Given the description of an element on the screen output the (x, y) to click on. 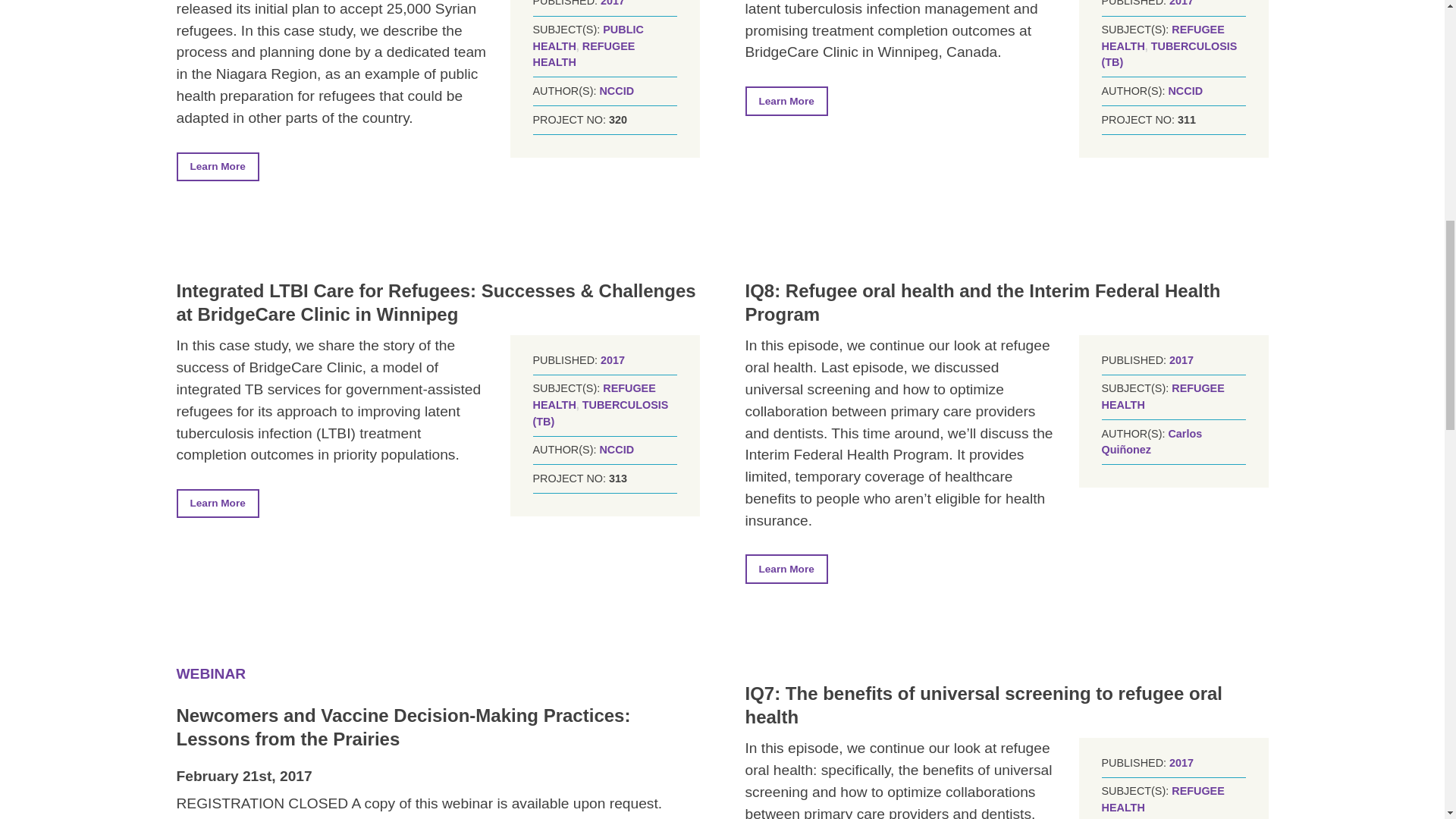
2017 (1181, 3)
NCCID (1184, 91)
NCCID (615, 91)
REFUGEE HEALTH (583, 54)
2017 (611, 3)
Learn More (785, 100)
PUBLIC HEALTH (587, 37)
Learn More (217, 166)
REFUGEE HEALTH (1162, 37)
